Given the description of an element on the screen output the (x, y) to click on. 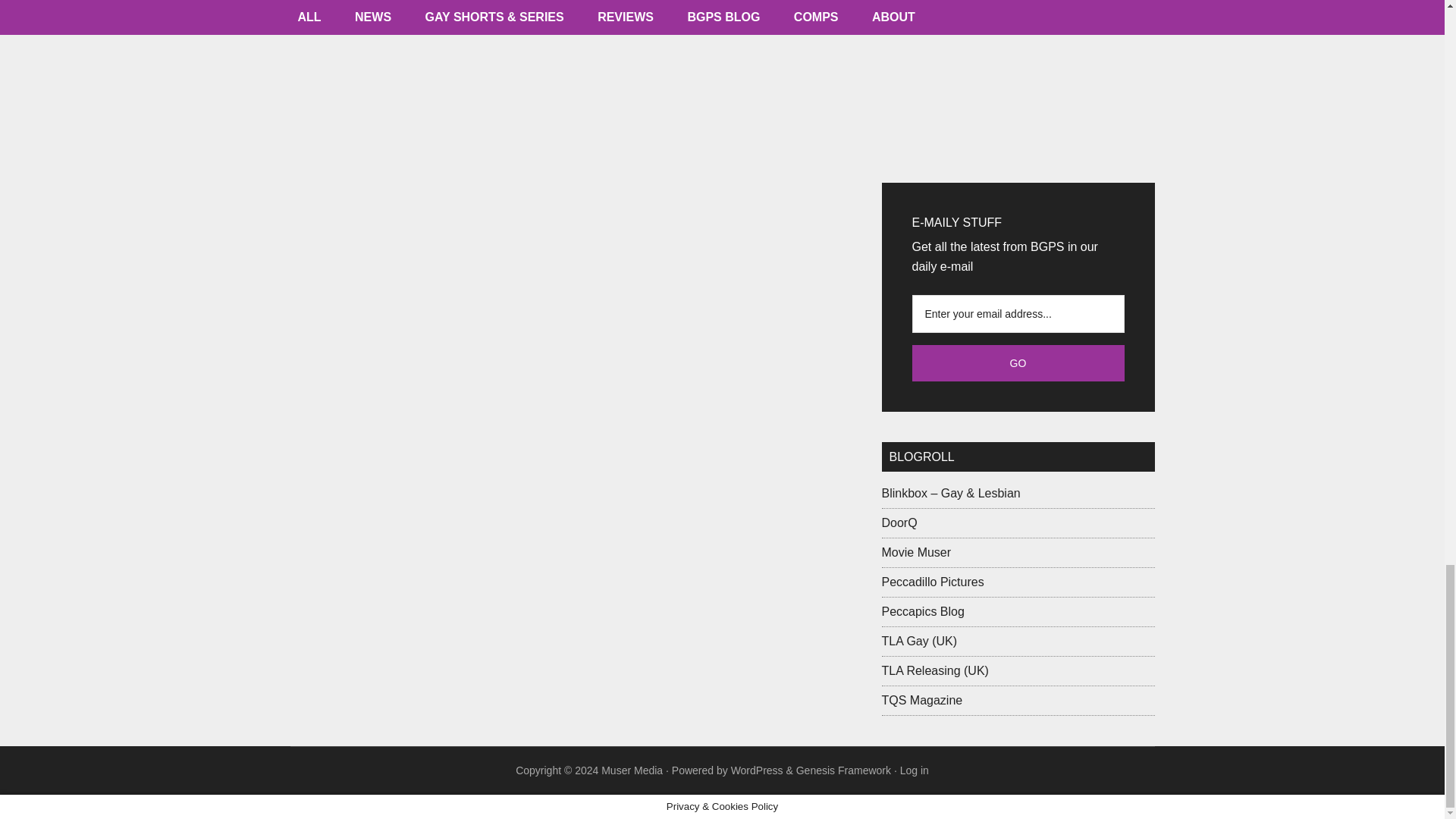
UK Gay and Lesbian, Art House and World Cinema distrbutor (932, 581)
SciFi. Fantasy. Horror. Gay. (898, 522)
Go (1017, 362)
